Given the description of an element on the screen output the (x, y) to click on. 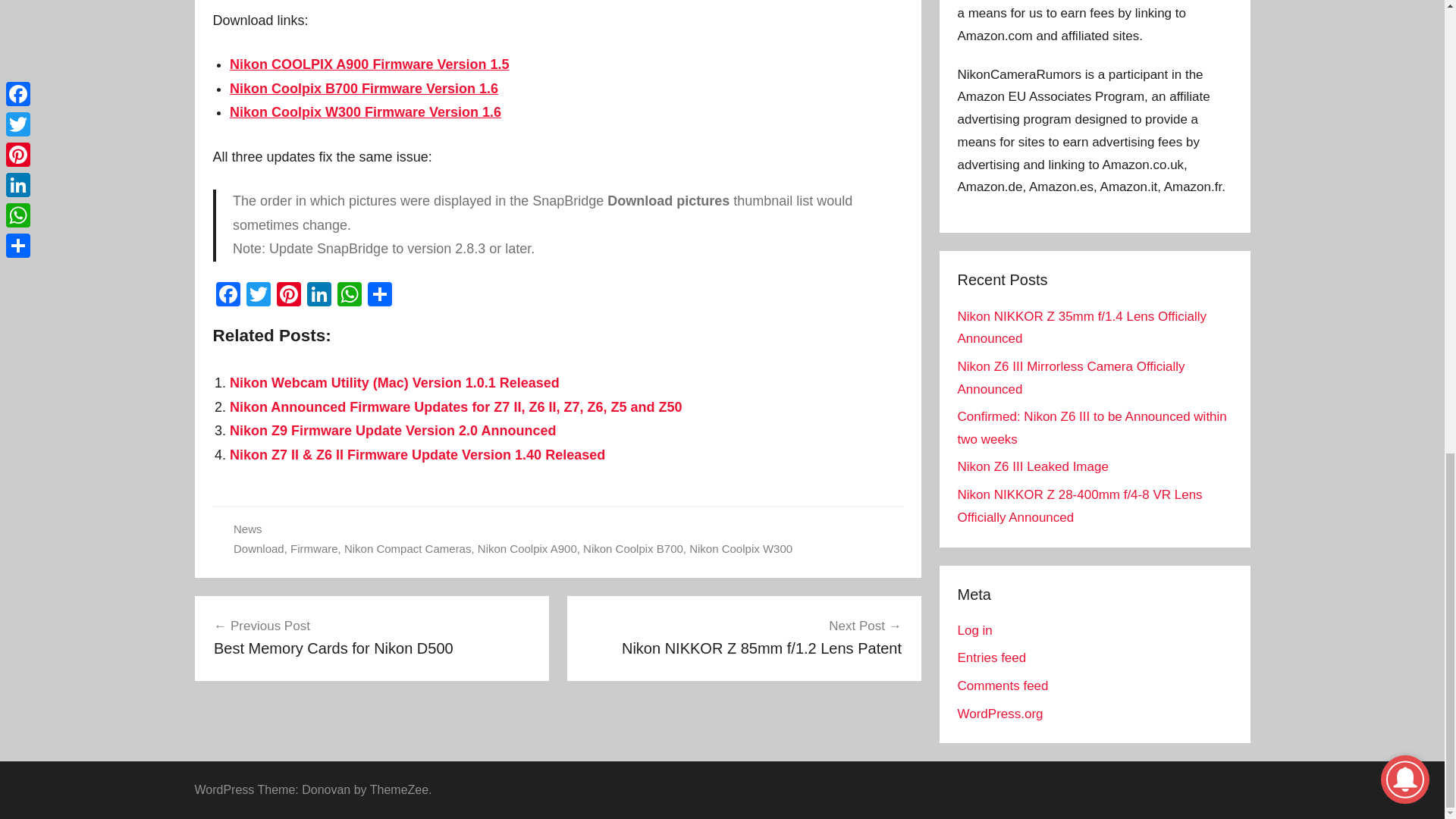
LinkedIn (317, 295)
Nikon Z9 Firmware Update Version 2.0 Announced (393, 430)
Twitter (258, 295)
Nikon Z9 Firmware Update Version 2.0 Announced (393, 430)
Nikon Coolpix W300 Firmware Version 1.6 (365, 111)
Pinterest (287, 295)
Facebook (227, 295)
WhatsApp (348, 295)
News (247, 528)
WhatsApp (348, 295)
Pinterest (287, 295)
Nikon COOLPIX A900 Firmware Version 1.5 (369, 64)
Nikon Coolpix B700 Firmware Version 1.6 (363, 88)
